Given the description of an element on the screen output the (x, y) to click on. 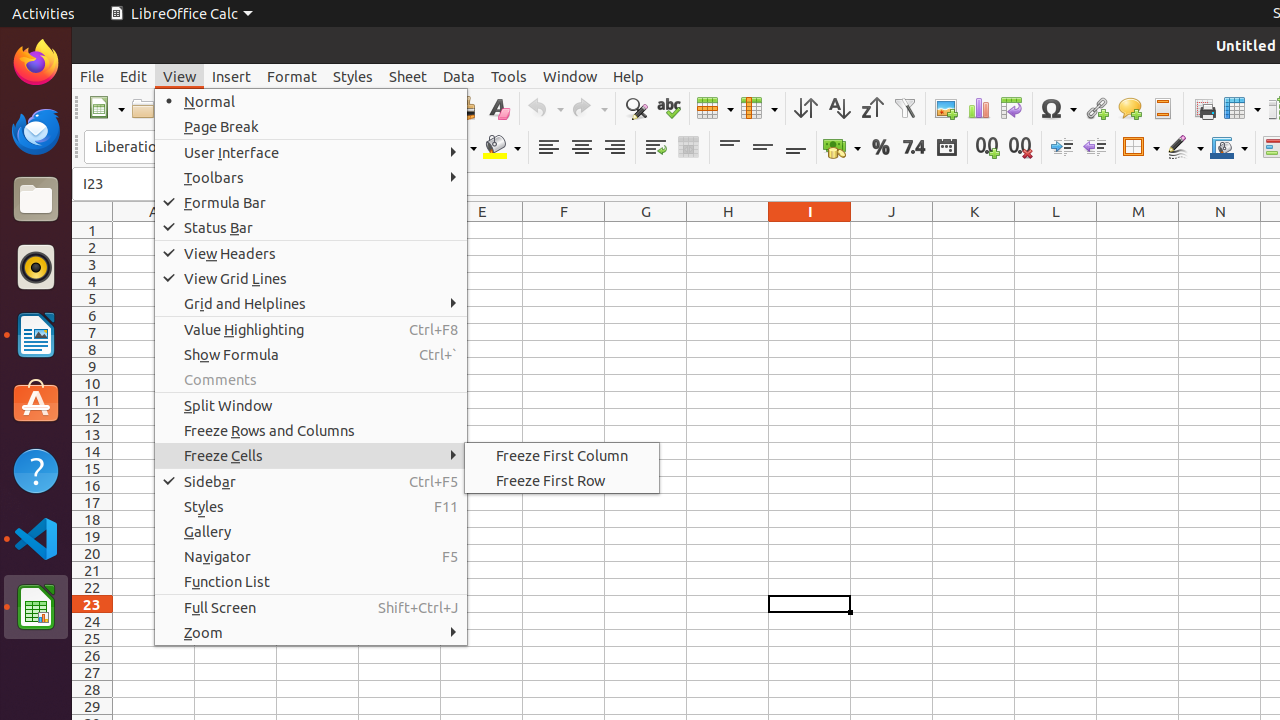
Wrap Text Element type: push-button (655, 147)
Delete Decimal Place Element type: push-button (1020, 147)
Value Highlighting Element type: check-menu-item (311, 329)
Page Break Element type: radio-menu-item (311, 126)
